Given the description of an element on the screen output the (x, y) to click on. 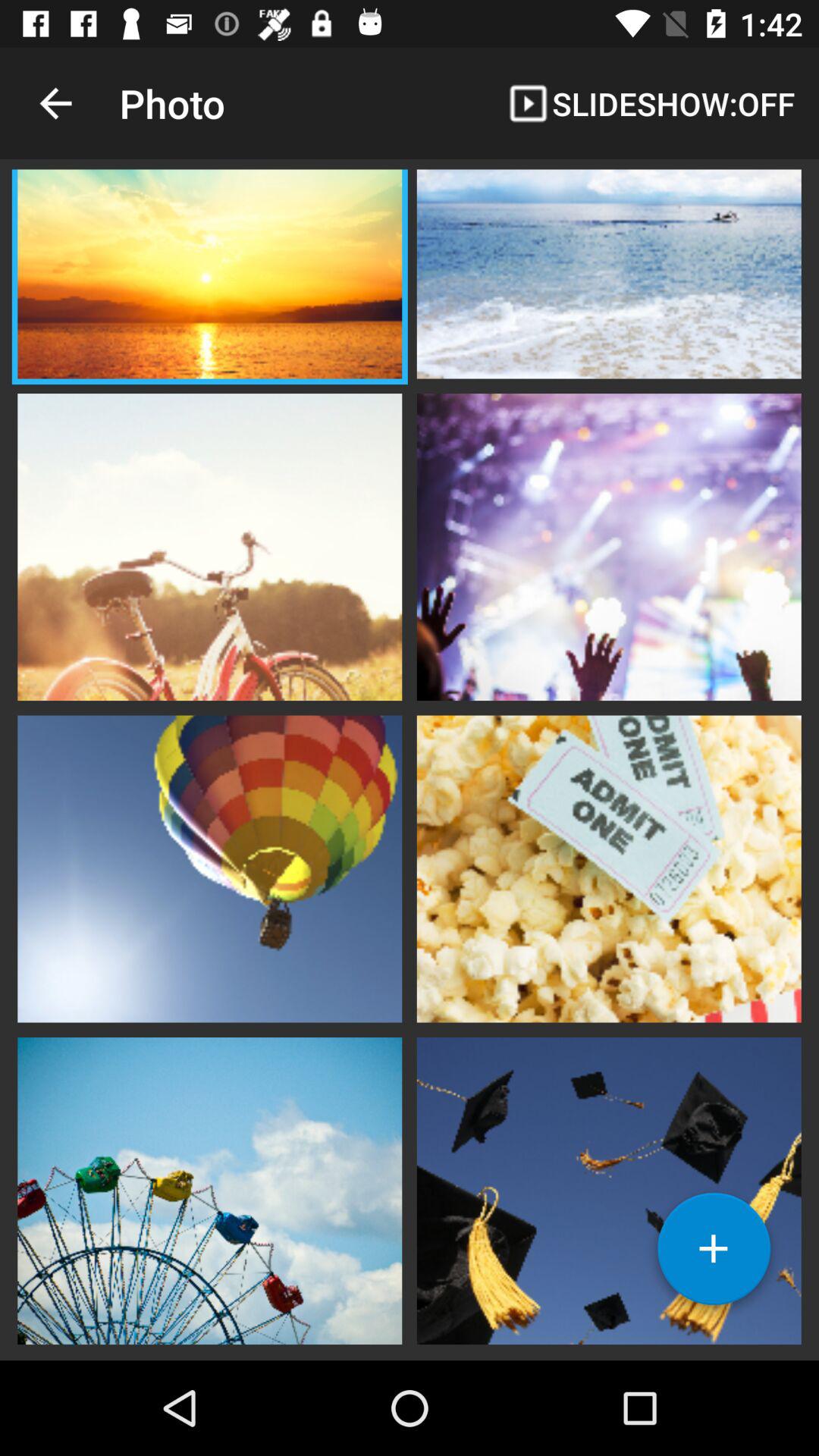
open image (609, 545)
